Given the description of an element on the screen output the (x, y) to click on. 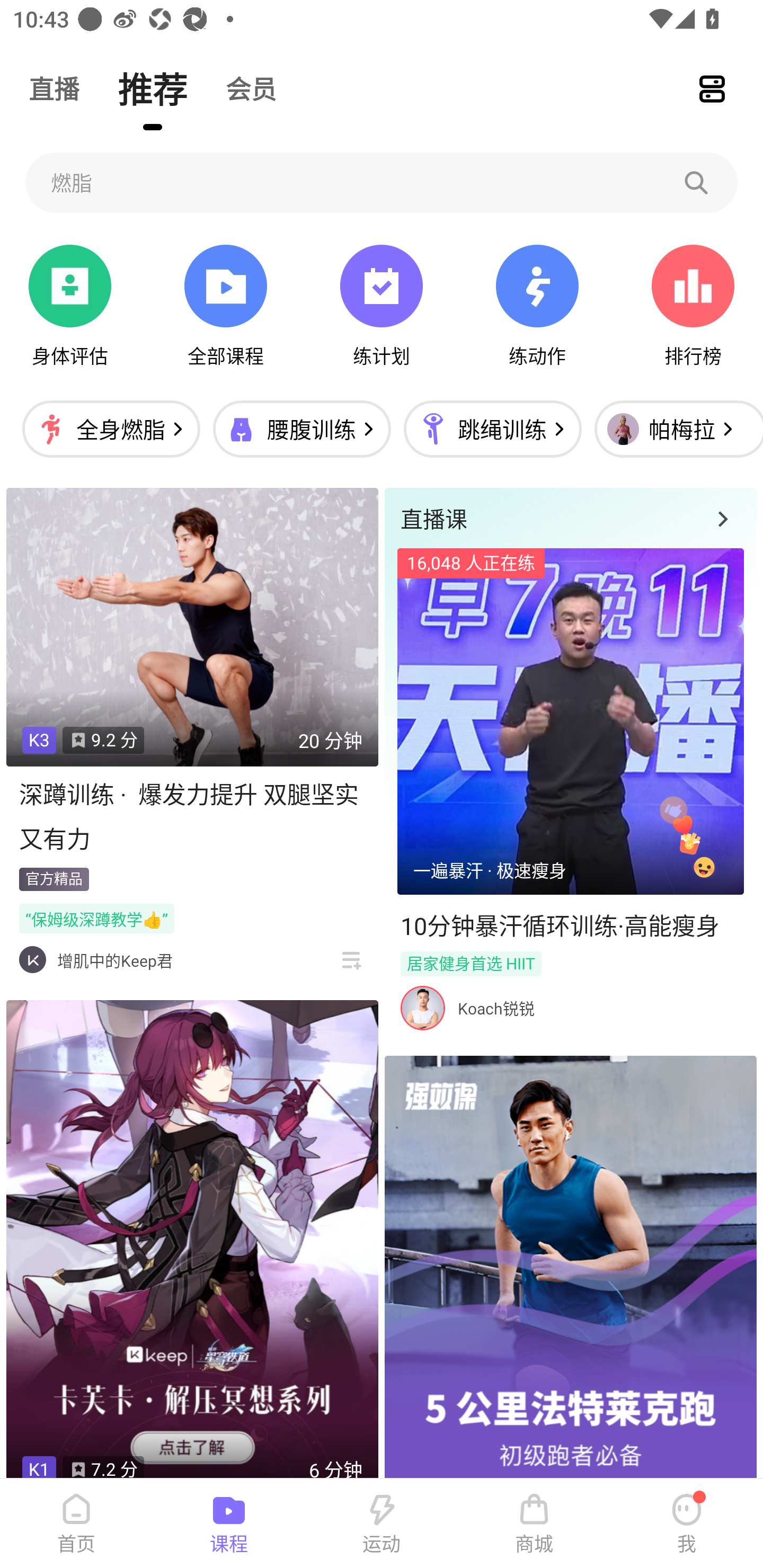
直播 (53, 88)
推荐 (152, 88)
会员 (251, 88)
燃脂 (381, 182)
身体评估 (69, 306)
全部课程 (225, 306)
练计划 (381, 306)
练动作 (537, 306)
排行榜 (692, 306)
全身燃脂 更多 (110, 428)
腰腹训练 更多 (301, 428)
跳绳训练 更多 (492, 428)
帕梅拉 更多 (673, 428)
直播课 (570, 517)
增肌中的Keep君 (114, 961)
Koach锐锐 (495, 1008)
K1 7.2 分 6 分钟 (192, 1239)
首页 (76, 1523)
课程 (228, 1523)
运动 (381, 1523)
商城 (533, 1523)
我 (686, 1523)
